Given the description of an element on the screen output the (x, y) to click on. 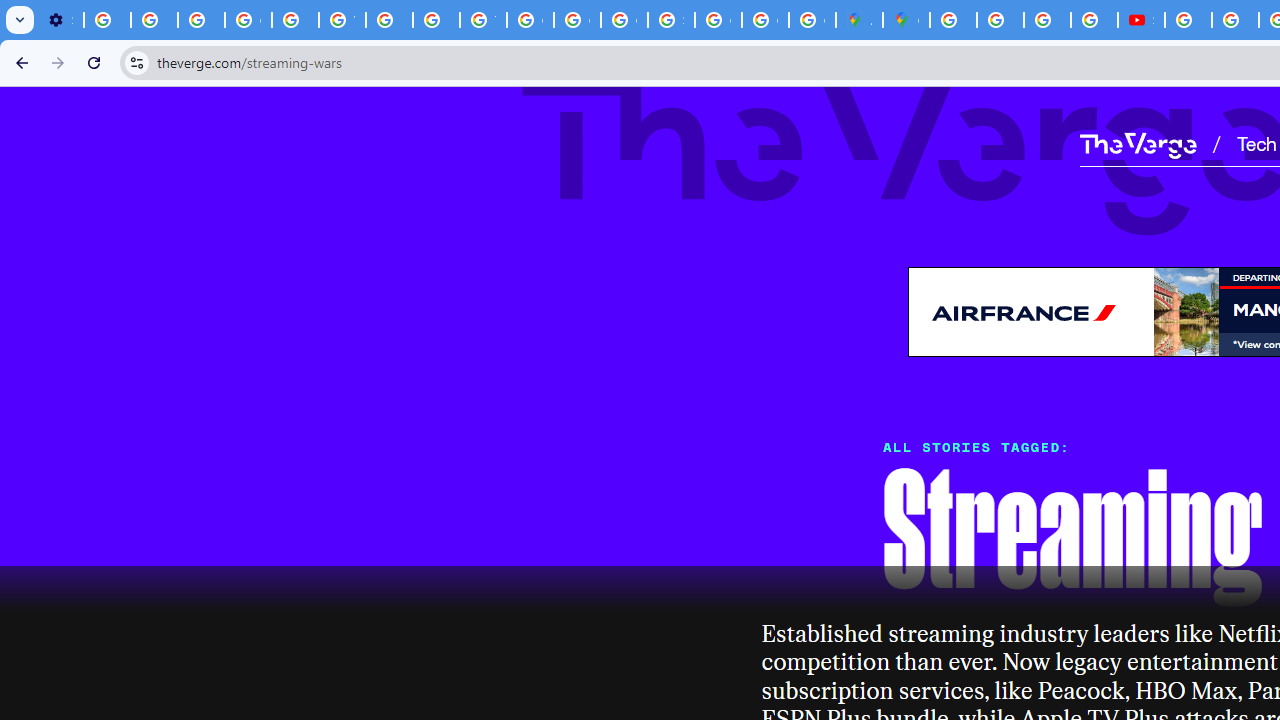
Privacy Help Center - Policies Help (436, 20)
Privacy Help Center - Policies Help (294, 20)
The Verge homepage The Verge (1137, 142)
Delete photos & videos - Computer - Google Photos Help (107, 20)
